Given the description of an element on the screen output the (x, y) to click on. 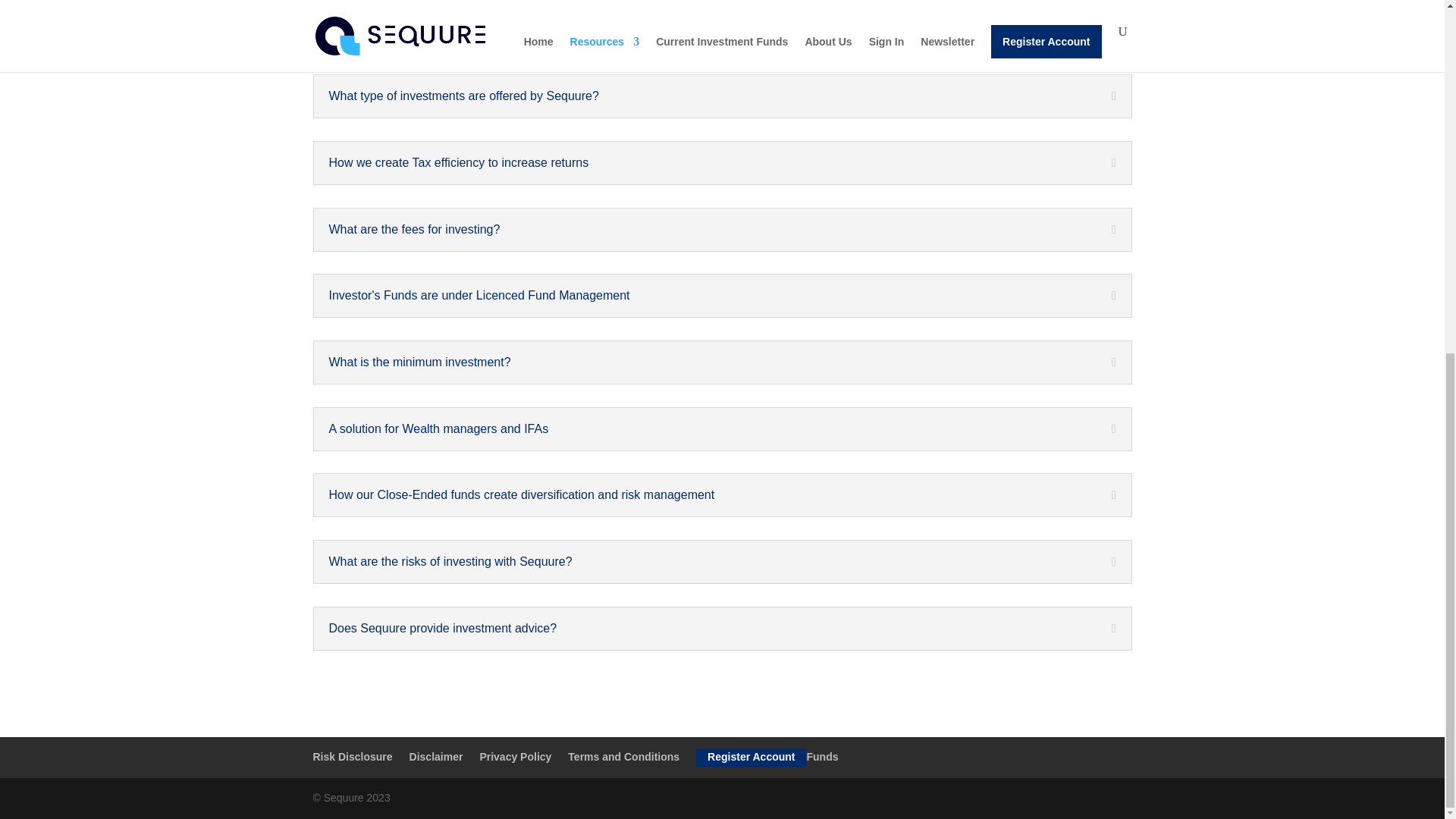
Terms and Conditions (623, 756)
Privacy Policy (515, 756)
Funds (822, 756)
Disclaimer (436, 756)
Risk Disclosure (352, 756)
Register Account (750, 756)
